Given the description of an element on the screen output the (x, y) to click on. 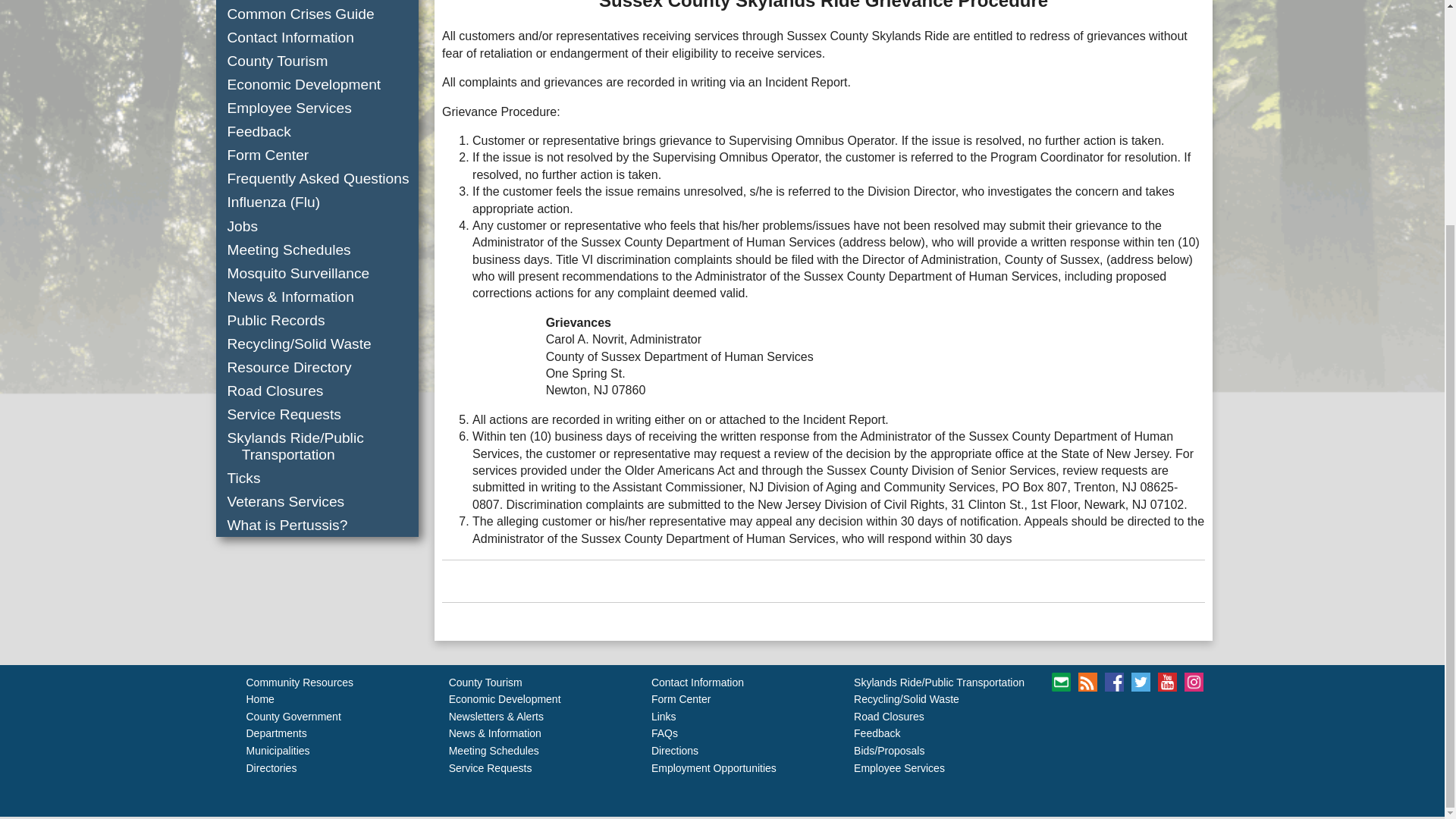
Follow us on Twitter (1140, 681)
Visit our Instagram page (1194, 681)
Visit our RSS feed (1087, 681)
Visit our YouTube channel (1166, 681)
Sign Up for emails from Sussex County (1060, 681)
Visit our Facebook page (1114, 681)
